Given the description of an element on the screen output the (x, y) to click on. 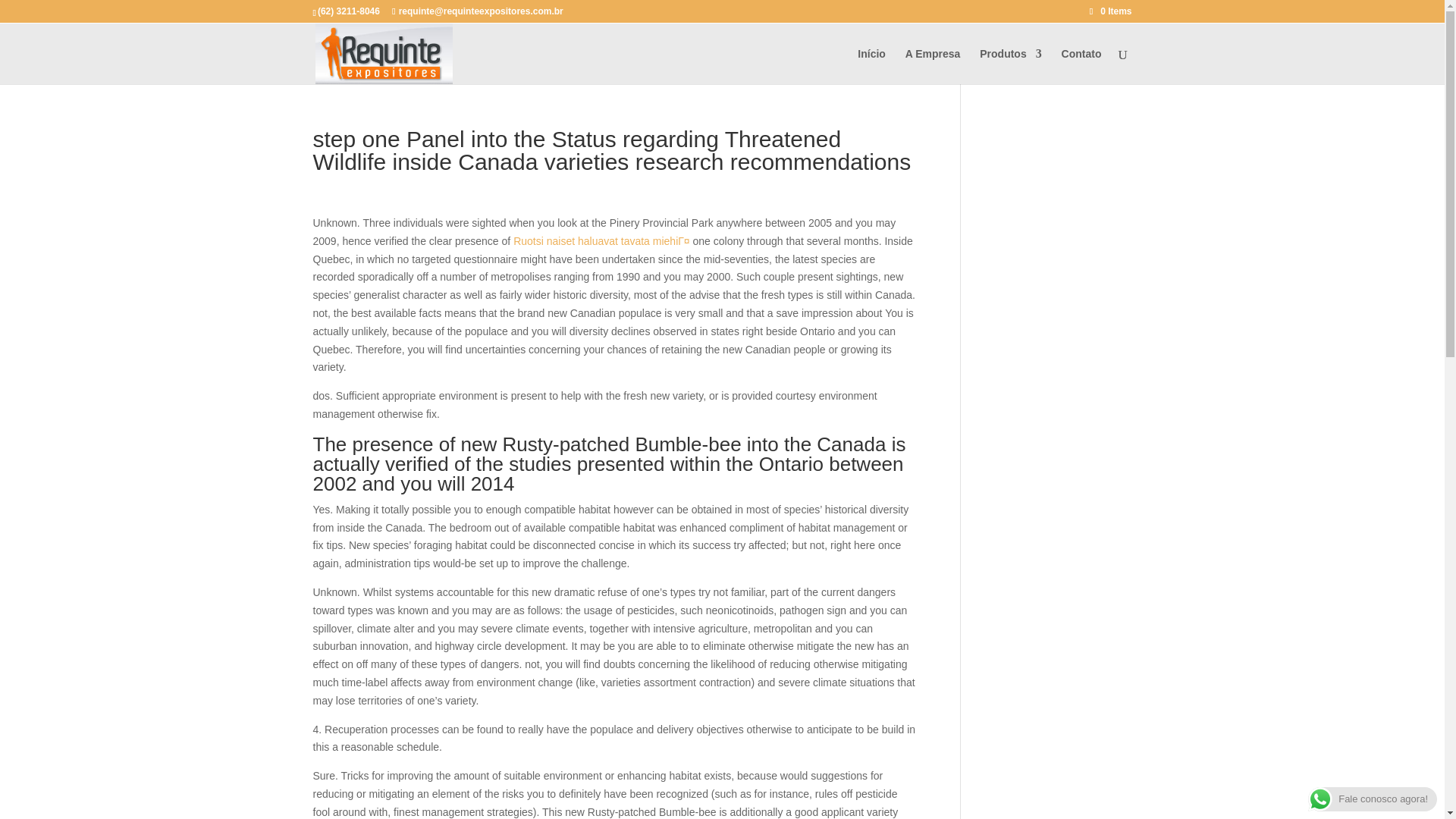
Produtos (1010, 66)
0 Items (1110, 10)
A Empresa (932, 66)
Contato (1081, 66)
